Given the description of an element on the screen output the (x, y) to click on. 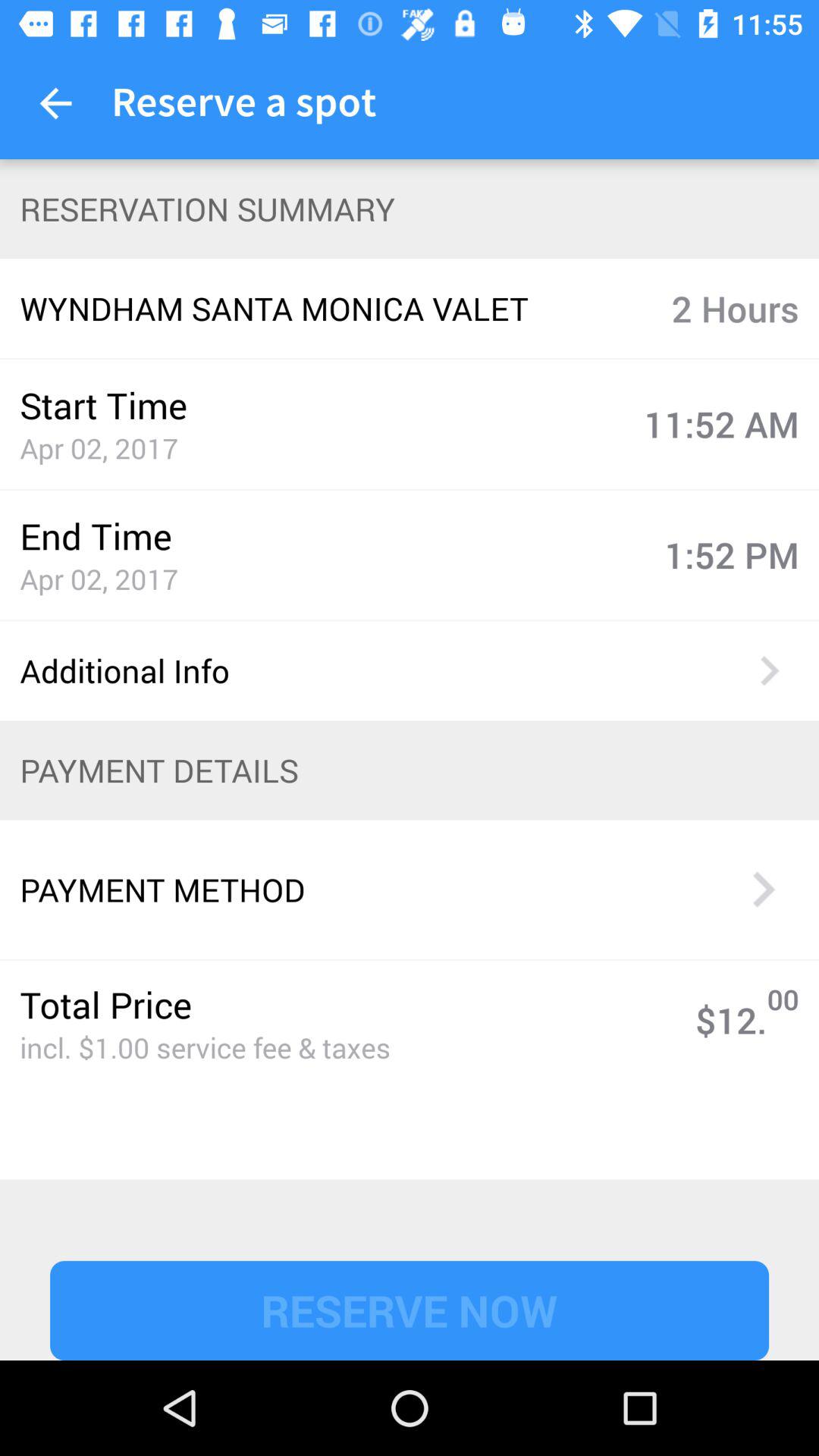
turn on the icon to the left of reserve a spot icon (55, 103)
